Given the description of an element on the screen output the (x, y) to click on. 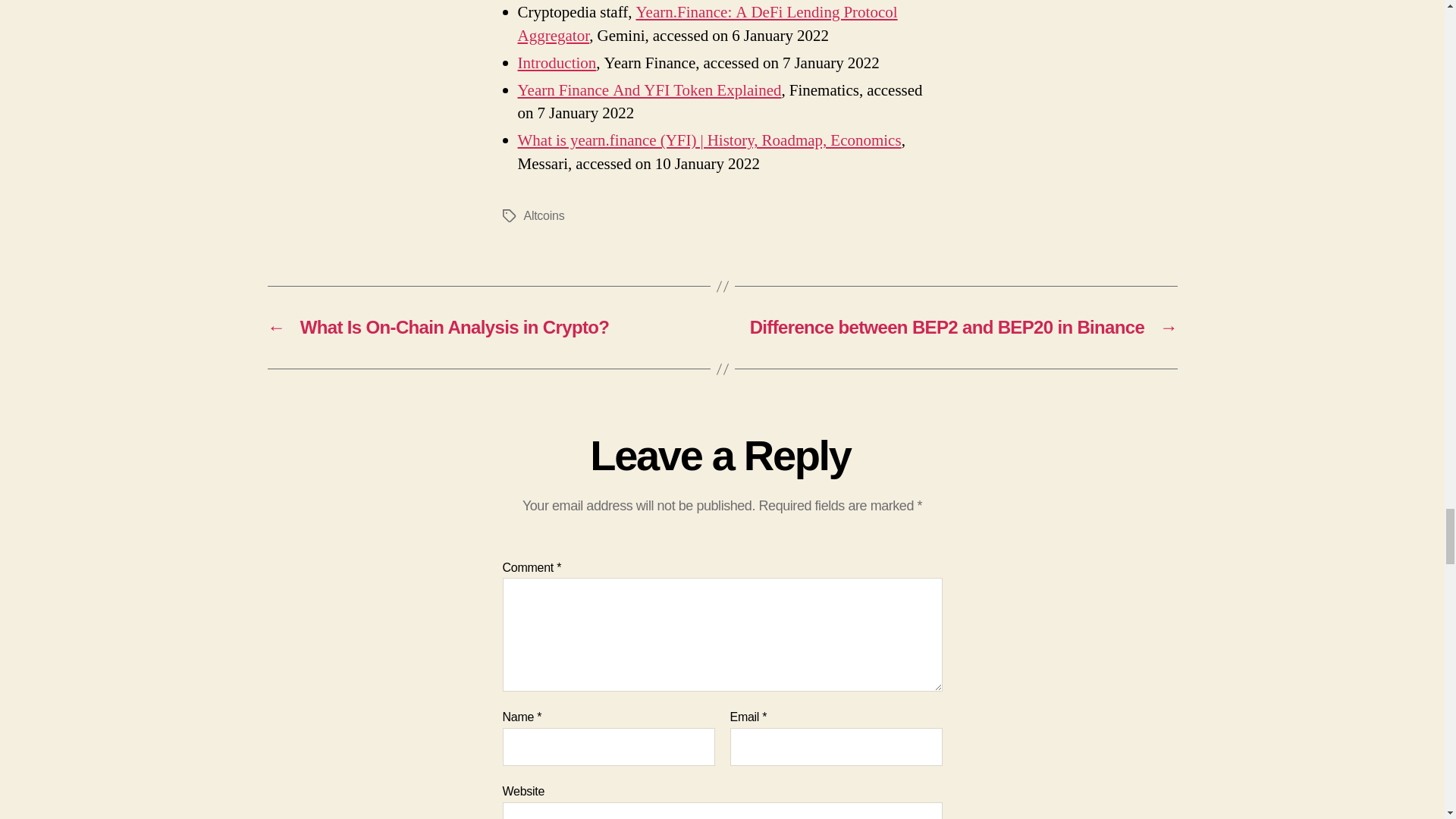
Altcoins (543, 215)
Introduction (555, 63)
Yearn.Finance: A DeFi Lending Protocol Aggregator (706, 23)
Yearn Finance And YFI Token Explained (648, 90)
